Given the description of an element on the screen output the (x, y) to click on. 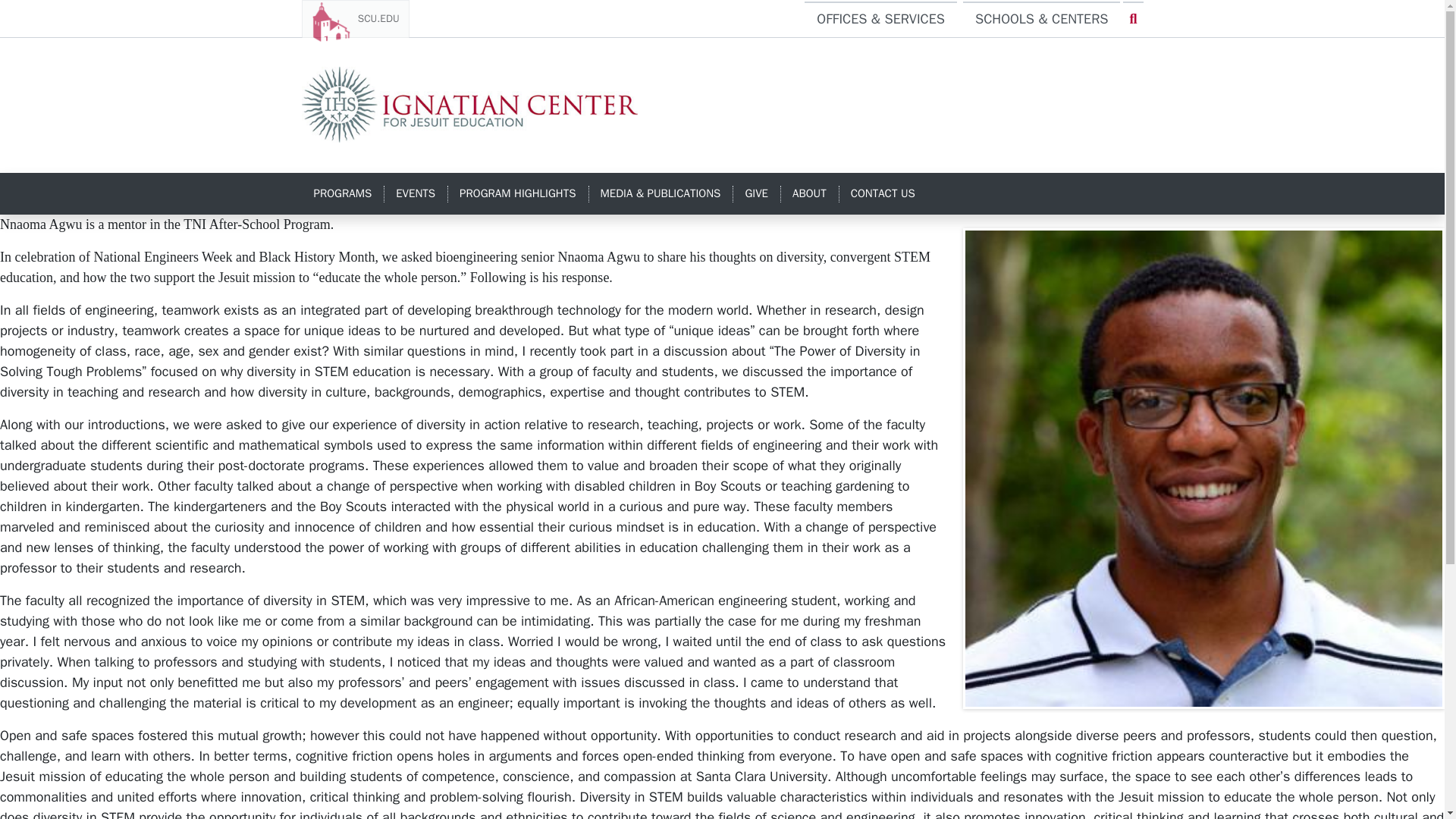
CONTACT US (882, 193)
PROGRAM HIGHLIGHTS (517, 193)
PROGRAMS (342, 193)
EVENTS (415, 193)
ABOUT (809, 193)
GIVE (756, 193)
SCU.EDU (355, 18)
